Given the description of an element on the screen output the (x, y) to click on. 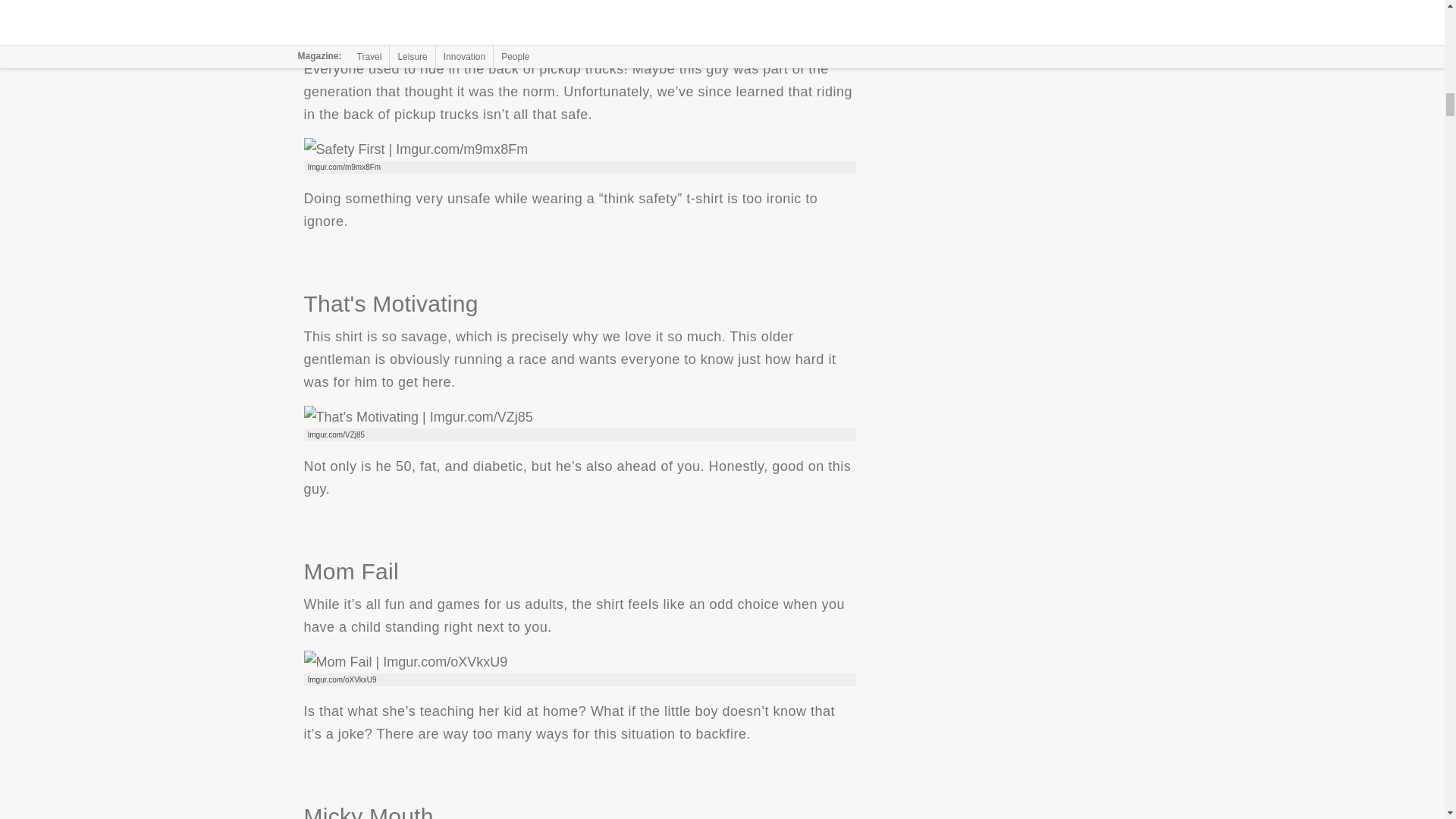
Safety First (414, 149)
Mom Fail (404, 661)
That's Motivating (417, 416)
